Given the description of an element on the screen output the (x, y) to click on. 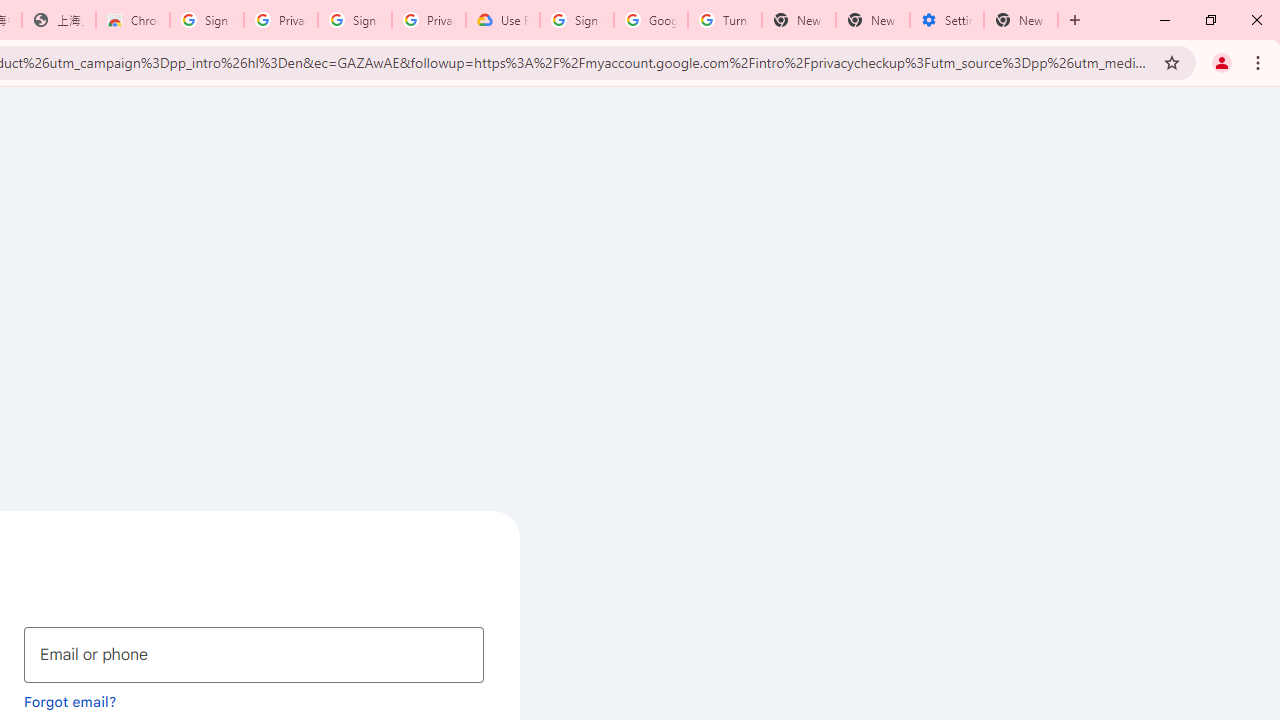
Forgot email? (70, 701)
Sign in - Google Accounts (577, 20)
Google Account Help (651, 20)
